Given the description of an element on the screen output the (x, y) to click on. 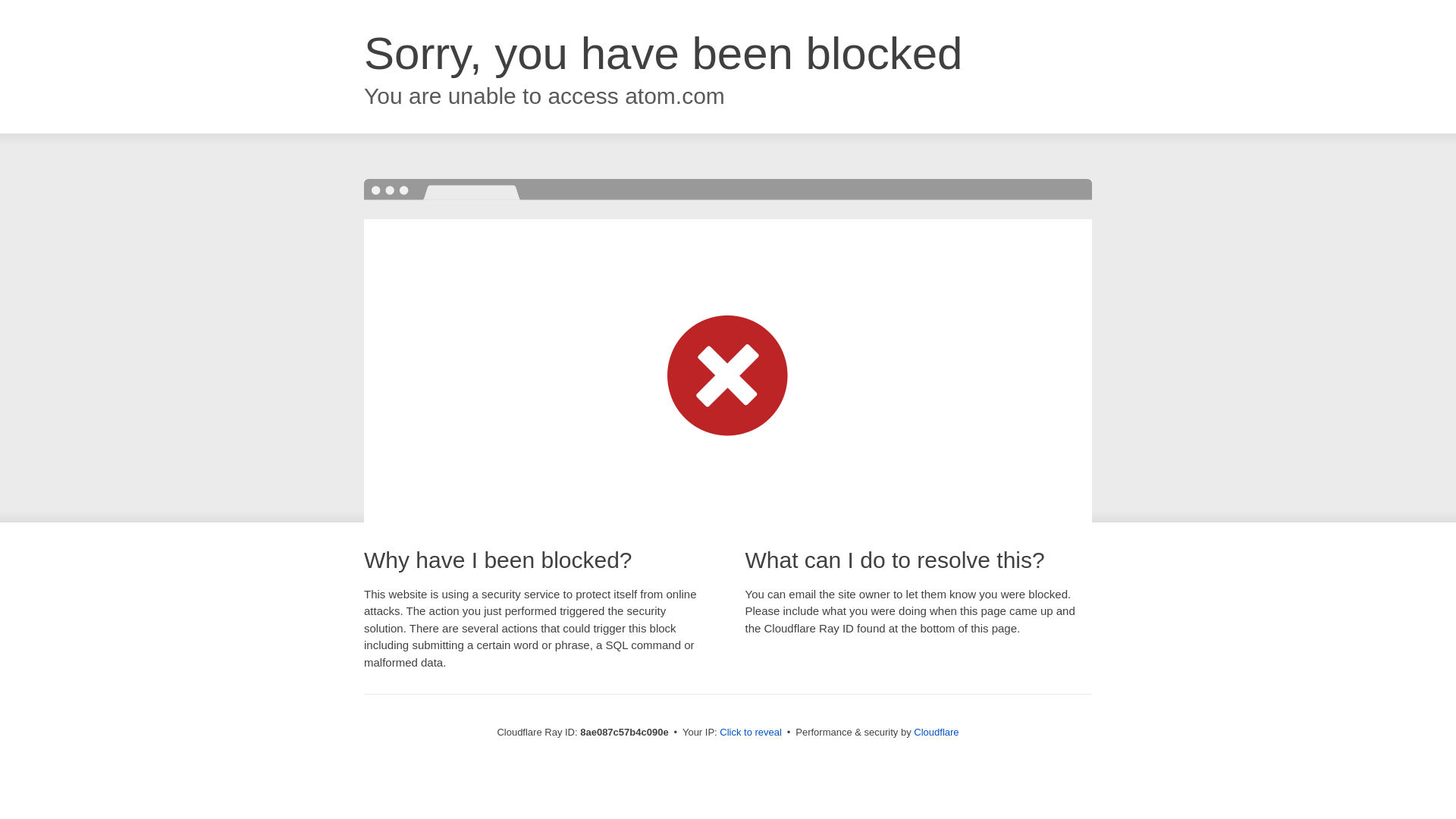
Cloudflare (936, 731)
Click to reveal (750, 732)
